Given the description of an element on the screen output the (x, y) to click on. 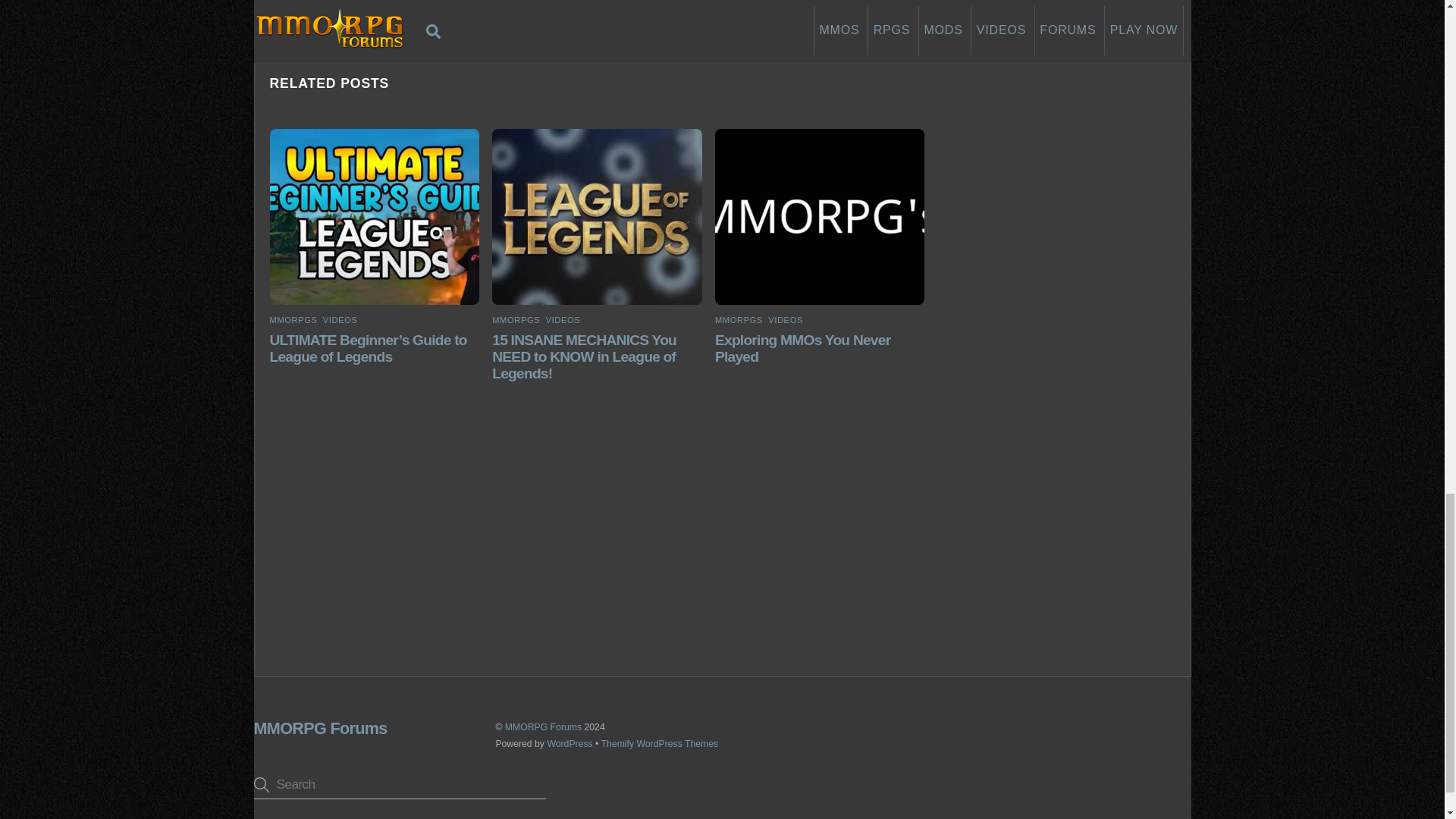
WordPress (569, 743)
VIDEOS (340, 319)
Search (399, 784)
Themify WordPress Themes (660, 743)
Exploring MMOs You Never Played (801, 348)
MMORPGS (738, 319)
MMORPGS (293, 319)
15 INSANE MECHANICS You NEED to KNOW in League of Legends! (584, 356)
MMORPG Forums (542, 726)
VIDEOS (563, 319)
VIDEOS (785, 319)
MMORPG Forums (320, 728)
MMORPGS (516, 319)
MMORPG Forums (320, 728)
